Given the description of an element on the screen output the (x, y) to click on. 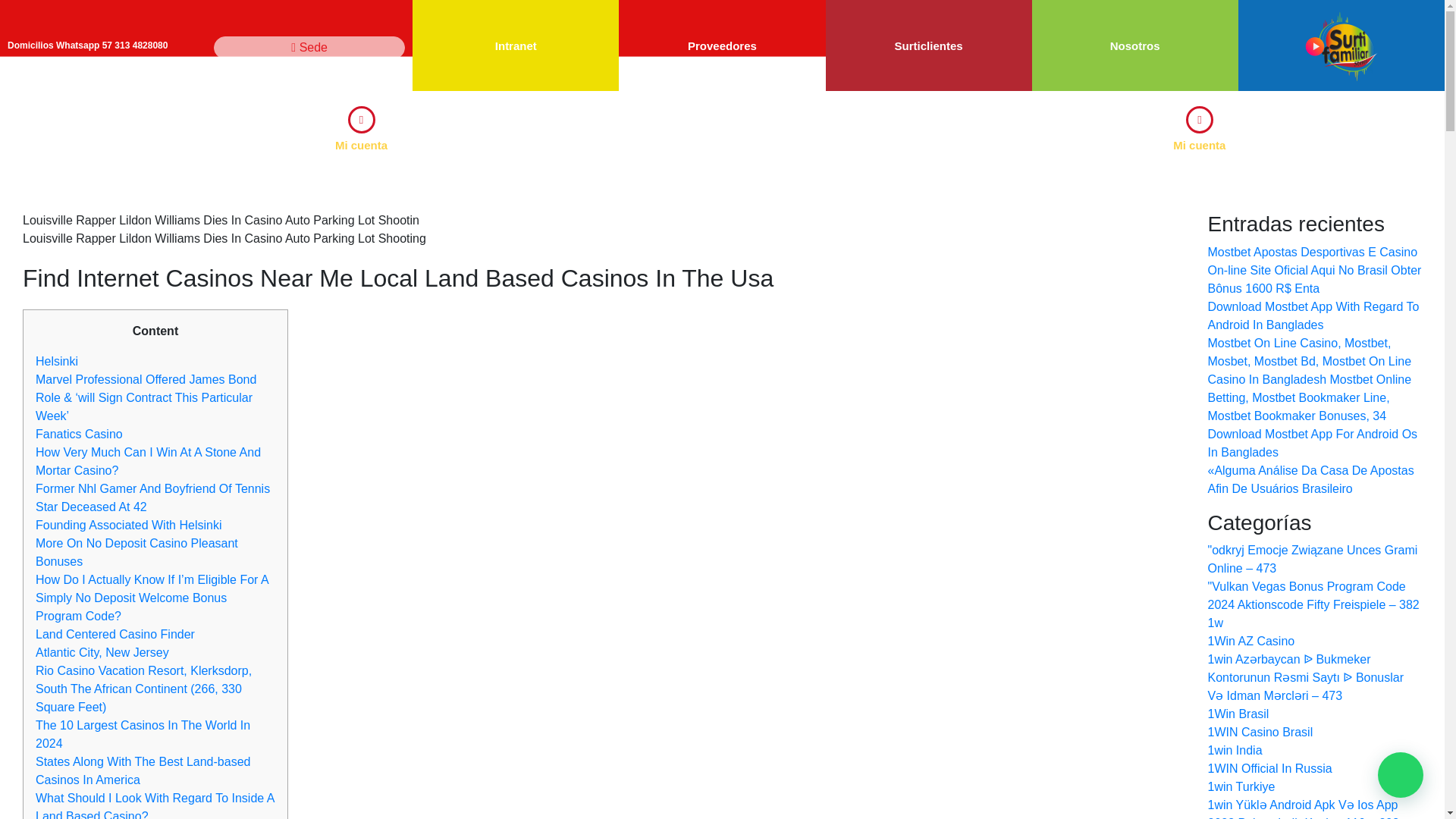
Intranet (516, 45)
Founding Associated With Helsinki (127, 524)
Surticlientes (928, 45)
Proveedores (722, 45)
Fanatics Casino (78, 433)
Former Nhl Gamer And Boyfriend Of Tennis Star Deceased At 42 (151, 497)
States Along With The Best Land-based Casinos In America (142, 770)
Nosotros (1134, 45)
Sede (309, 47)
More On No Deposit Casino Pleasant Bonuses (136, 552)
Helsinki (56, 360)
Atlantic City, New Jersey (101, 652)
The 10 Largest Casinos In The World In 2024 (142, 734)
Mi cuenta (1199, 144)
